Given the description of an element on the screen output the (x, y) to click on. 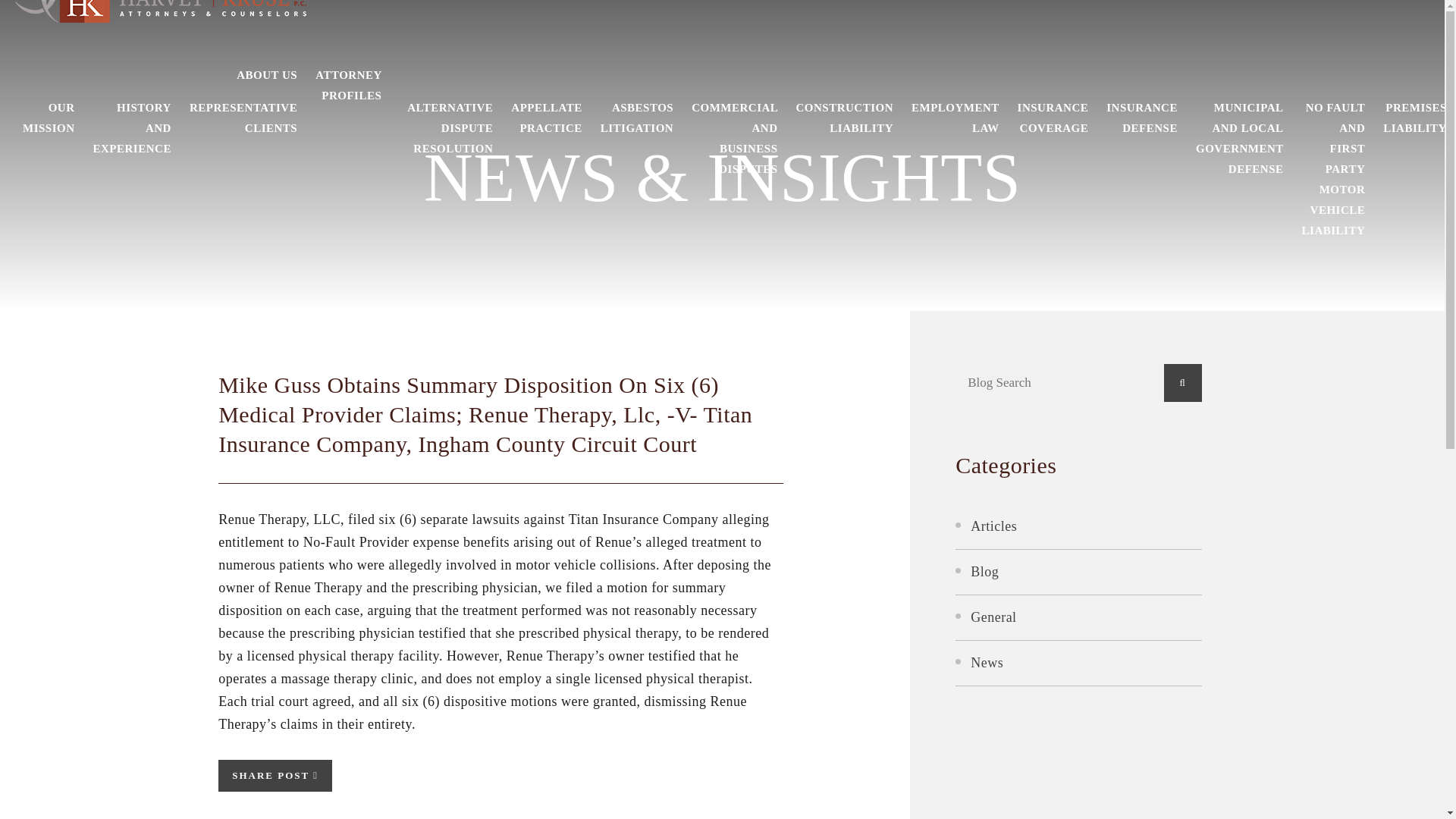
ATTORNEY PROFILES (348, 85)
REPRESENTATIVE CLIENTS (243, 117)
OUR MISSION (49, 117)
ABOUT US (266, 75)
HISTORY AND EXPERIENCE (132, 127)
